Given the description of an element on the screen output the (x, y) to click on. 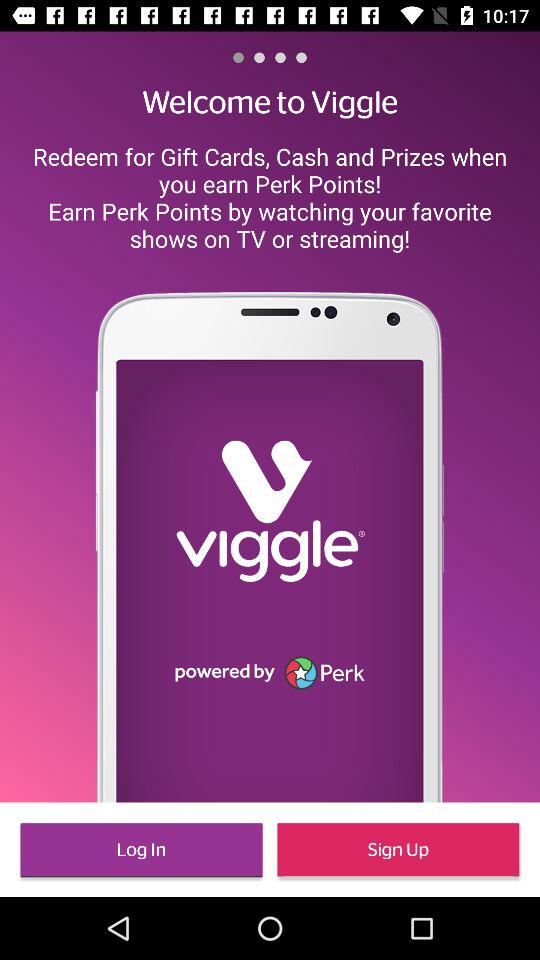
press the icon above welcome to viggle (301, 57)
